Given the description of an element on the screen output the (x, y) to click on. 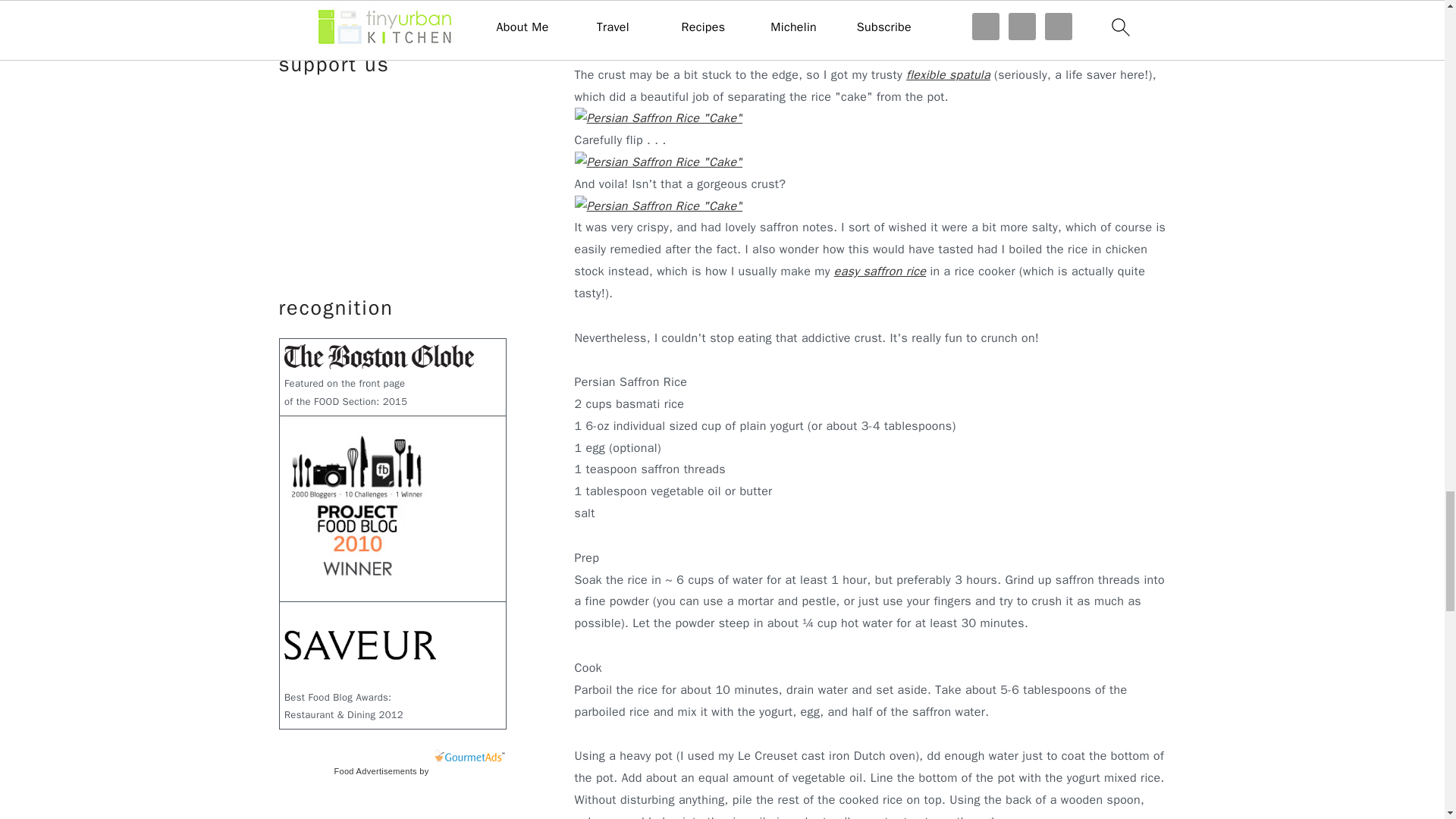
Food Advertisements (374, 770)
Persian Saffron Rice "Cake" by tinyurbankitchen, on Flickr (658, 206)
Persian Saffron Rice "Cake" by tinyurbankitchen, on Flickr (658, 52)
Persian Saffron Rice "Cake" by tinyurbankitchen, on Flickr (658, 118)
Persian Saffron Rice "Cake" by tinyurbankitchen, on Flickr (658, 161)
